Given the description of an element on the screen output the (x, y) to click on. 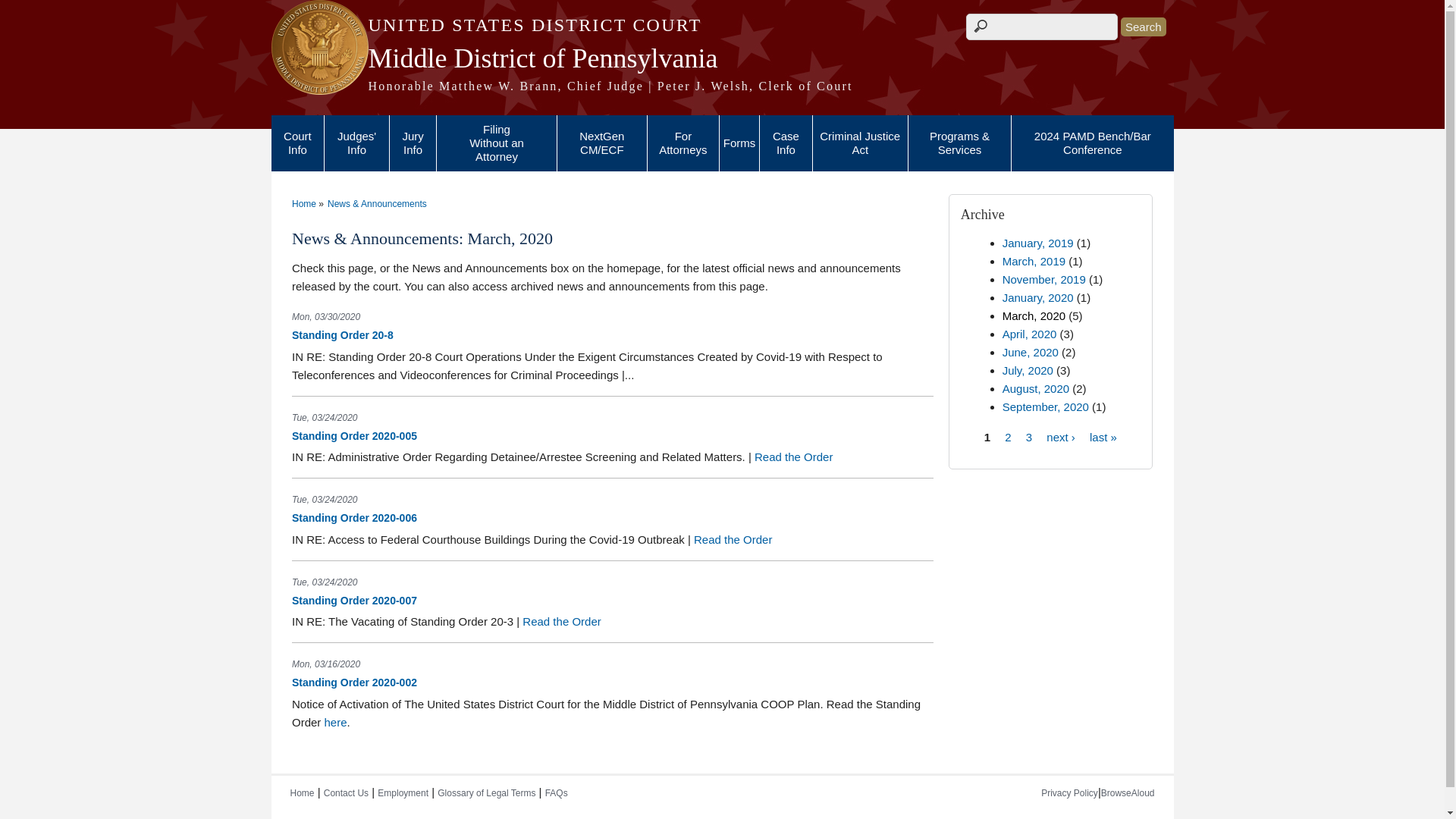
Search (1143, 26)
Enter the terms you wish to search for. (1042, 26)
Go to next page (1060, 436)
Jury Info (413, 143)
Home (721, 57)
Judges' Info (356, 143)
Go to last page (1102, 436)
Home (721, 25)
Home (721, 86)
